Given the description of an element on the screen output the (x, y) to click on. 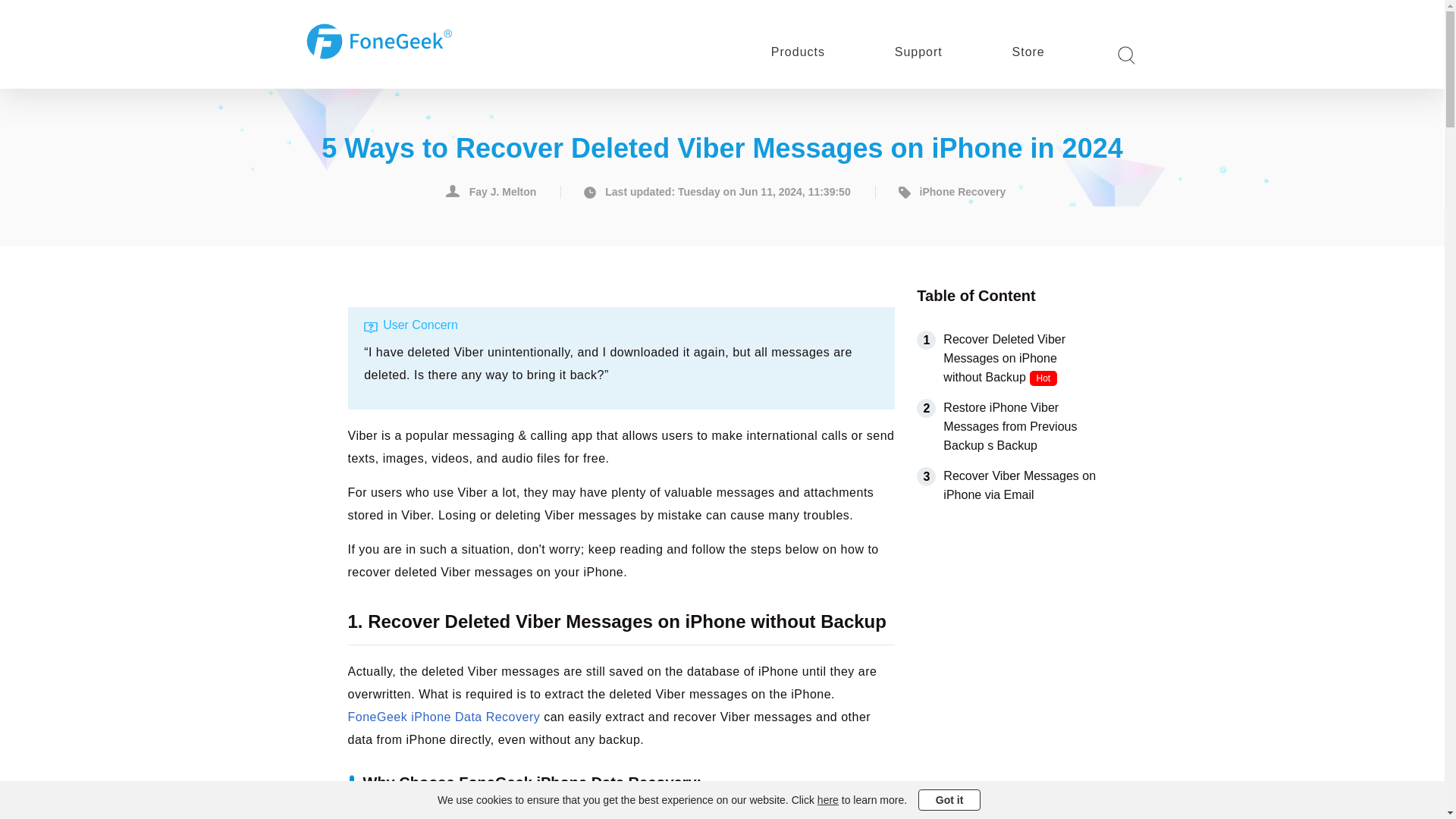
iPhone Recovery (949, 192)
Products (798, 51)
FoneGeek iPhone Data Recovery (443, 716)
Support (918, 51)
here (827, 799)
Store (1028, 51)
